Given the description of an element on the screen output the (x, y) to click on. 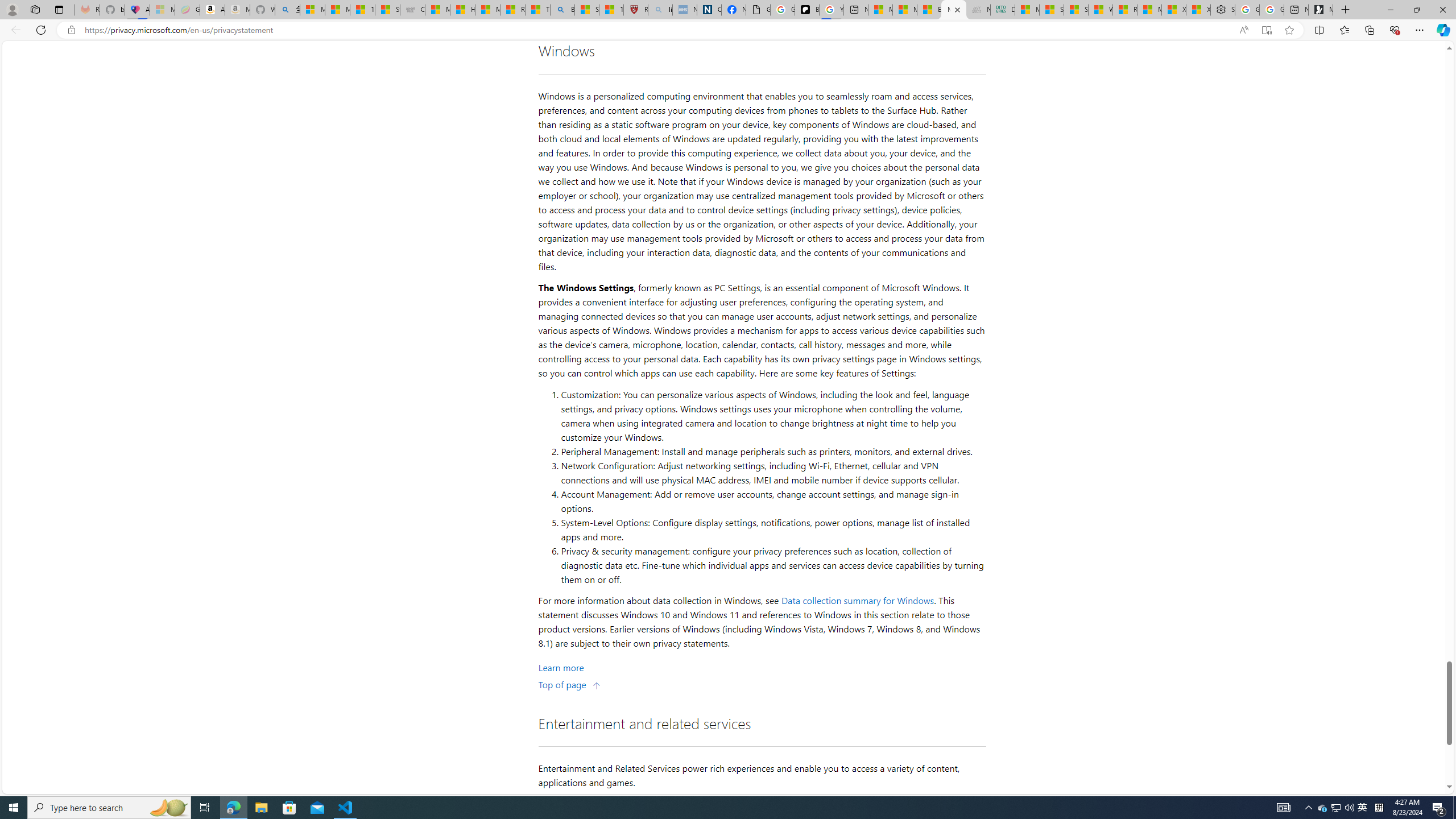
R******* | Trusted Community Engagement and Contributions (1124, 9)
